Given the description of an element on the screen output the (x, y) to click on. 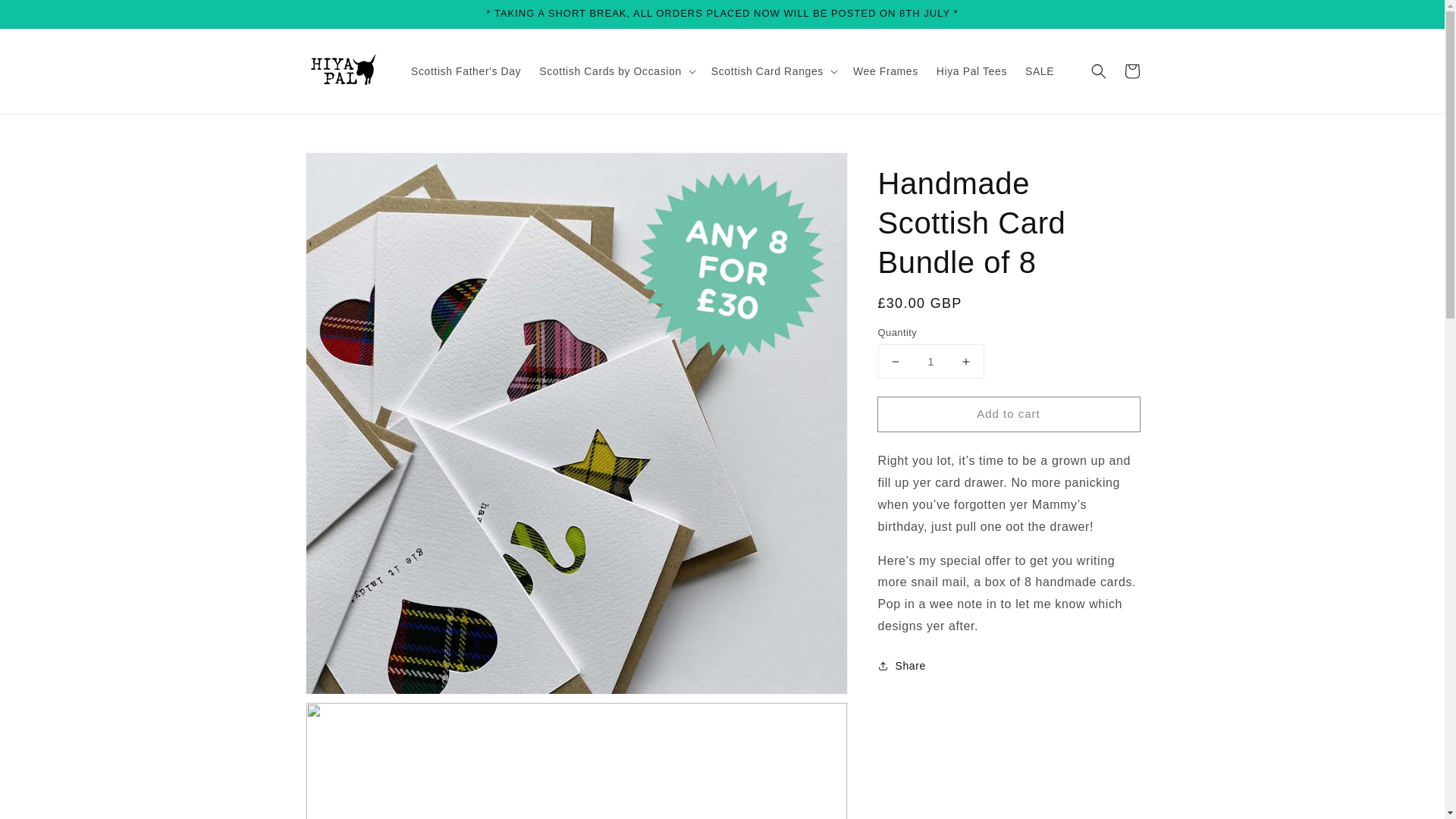
Skip to content (45, 16)
Wee Frames (885, 70)
Scottish Father's Day (465, 70)
1 (930, 360)
